Given the description of an element on the screen output the (x, y) to click on. 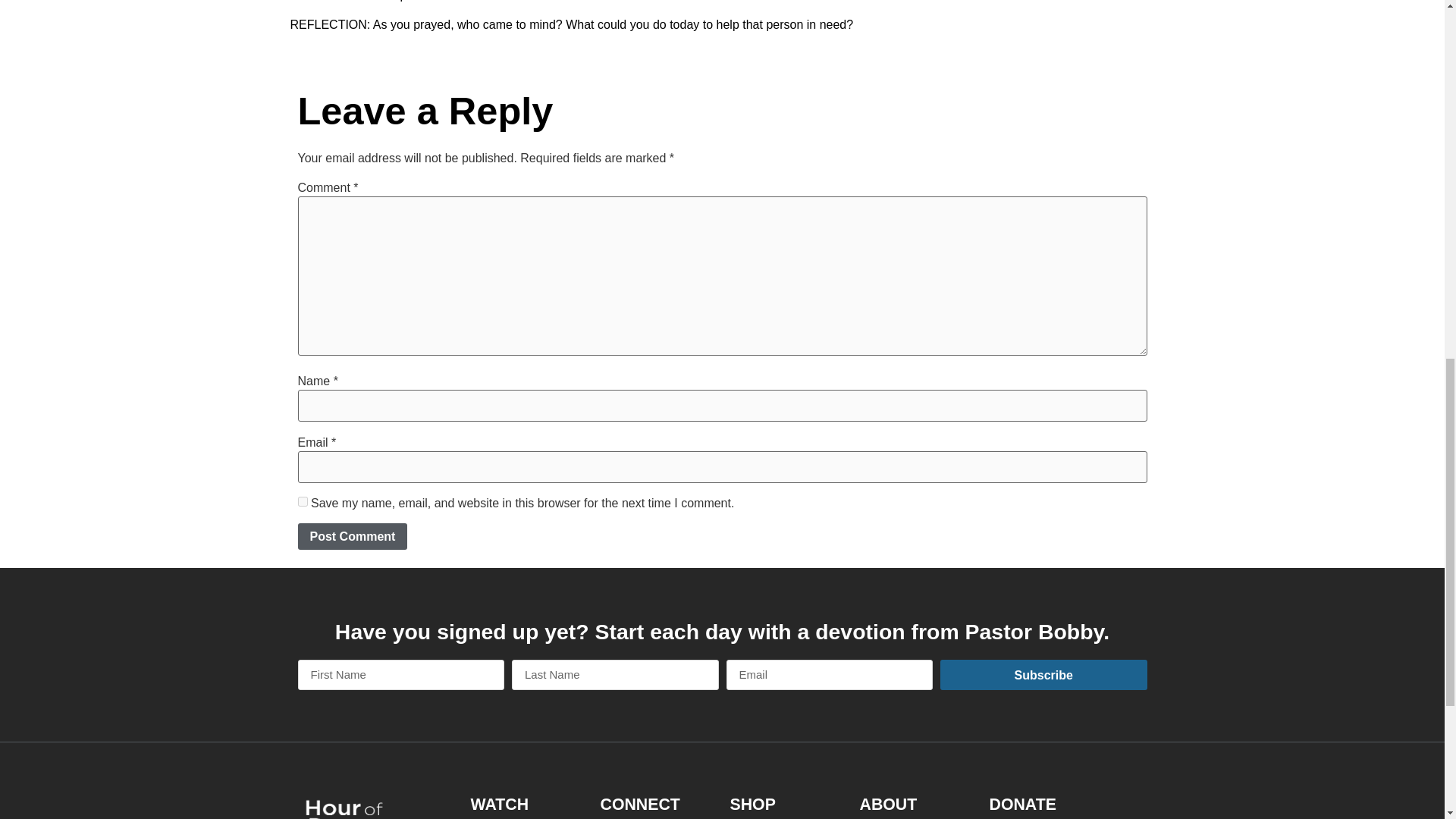
Post Comment (352, 536)
Post Comment (352, 536)
yes (302, 501)
Subscribe (1043, 675)
